Given the description of an element on the screen output the (x, y) to click on. 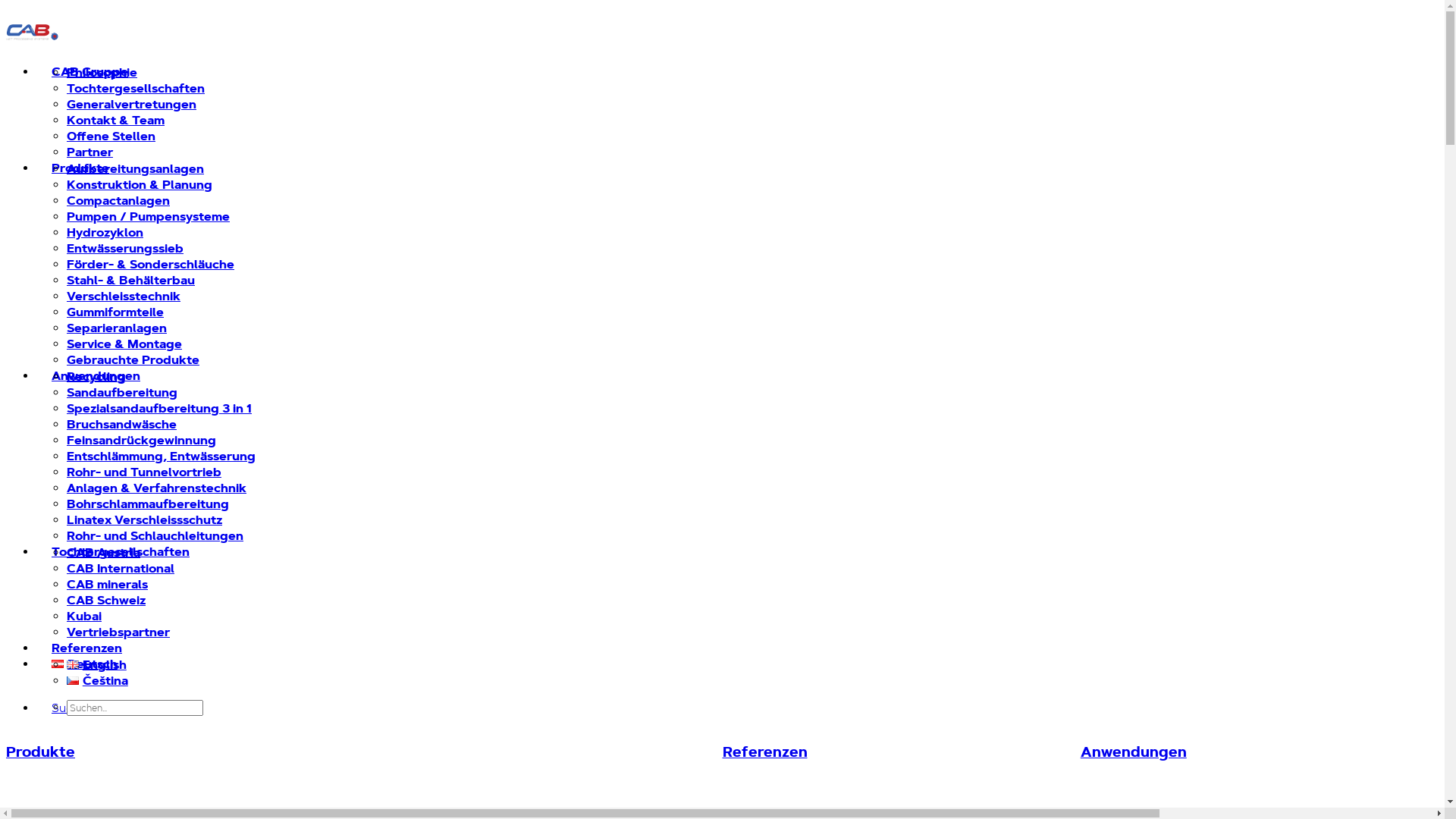
CAB International Element type: text (120, 568)
Suchen Element type: text (71, 707)
Partner Element type: text (89, 152)
Aufbereitungsanlagen Element type: text (134, 168)
Kontakt & Team Element type: text (115, 120)
Vertriebspartner Element type: text (117, 632)
Gummiformteile Element type: text (114, 312)
Anwendungen Element type: text (95, 375)
Gebrauchte Produkte Element type: text (132, 359)
Produkte Element type: text (80, 167)
Offene Stellen Element type: text (110, 136)
English Element type: text (96, 664)
Produkte Element type: text (363, 773)
CAB Gruppe Element type: text (89, 71)
Anlagen & Verfahrenstechnik Element type: text (156, 487)
Tochtergesellschaften Element type: text (135, 88)
CAB Schweiz Element type: text (105, 600)
Referenzen Element type: text (86, 647)
Sandaufbereitung Element type: text (121, 392)
Referenzen Element type: text (900, 773)
Rohr- und Schlauchleitungen Element type: text (154, 535)
Spezialsandaufbereitung 3 in 1 Element type: text (158, 408)
Deutsch Element type: text (84, 663)
Kubai Element type: text (83, 616)
Anwendungen Element type: text (1259, 773)
Generalvertretungen Element type: text (131, 104)
Separieranlagen Element type: text (116, 327)
CAB Austria Element type: text (103, 552)
Hydrozyklon Element type: text (104, 232)
CAB minerals Element type: text (106, 584)
Verschleisstechnik Element type: text (123, 296)
Linatex Verschleissschutz Element type: text (144, 519)
Recycling Element type: text (95, 376)
Philosophie Element type: text (101, 72)
Bohrschlammaufbereitung Element type: text (147, 503)
Compactanlagen Element type: text (117, 200)
Pumpen / Pumpensysteme Element type: text (147, 216)
Tochtergesellschaften Element type: text (120, 551)
Konstruktion & Planung Element type: text (139, 184)
Rohr- und Tunnelvortrieb Element type: text (143, 472)
Service & Montage Element type: text (124, 343)
